Given the description of an element on the screen output the (x, y) to click on. 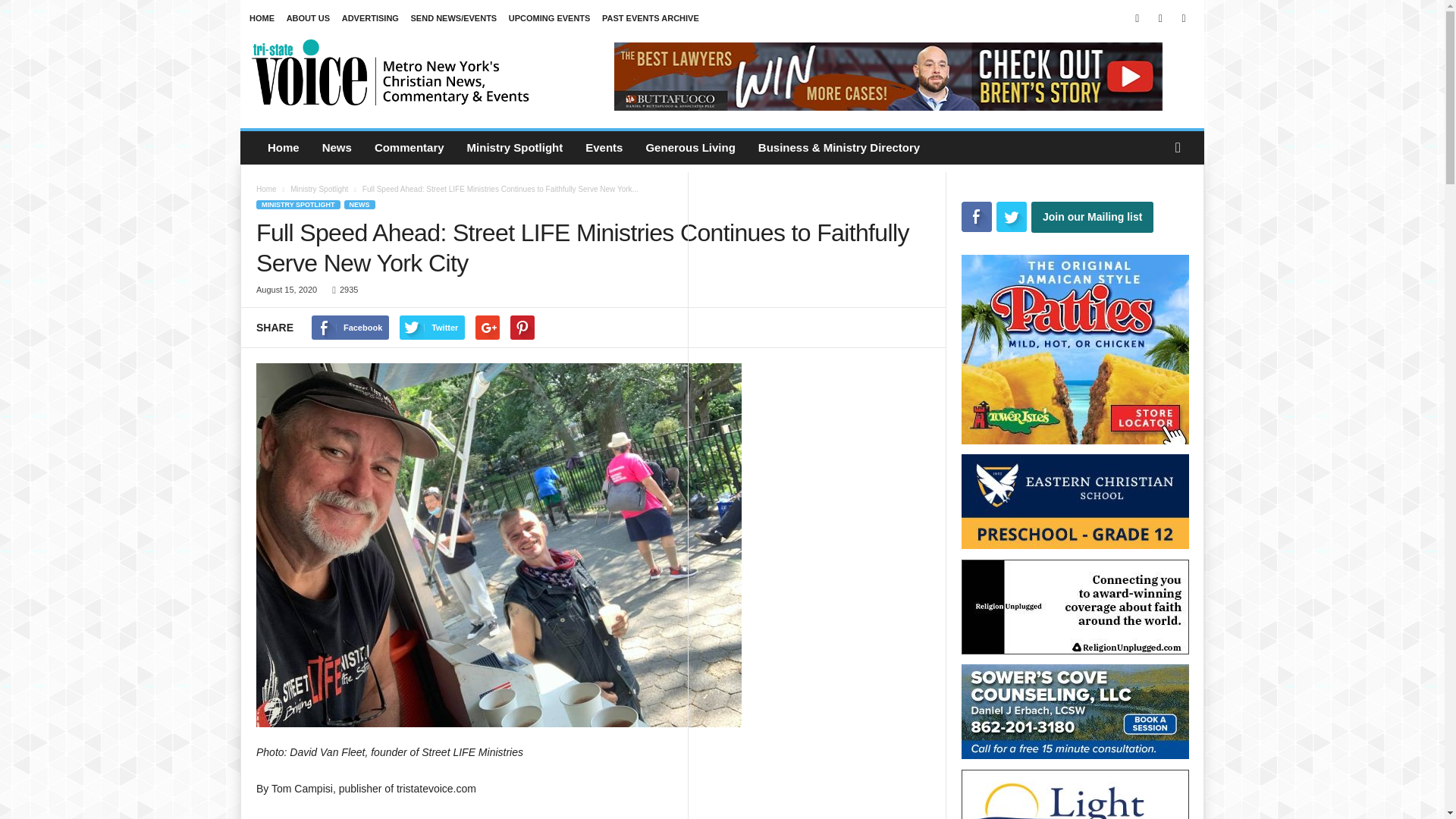
PAST EVENTS ARCHIVE (650, 17)
View all posts in Ministry Spotlight (318, 189)
News (336, 147)
Home (266, 189)
UPCOMING EVENTS (549, 17)
Events (603, 147)
Tri-State Voice (391, 70)
MINISTRY SPOTLIGHT (298, 204)
Home (283, 147)
